Given the description of an element on the screen output the (x, y) to click on. 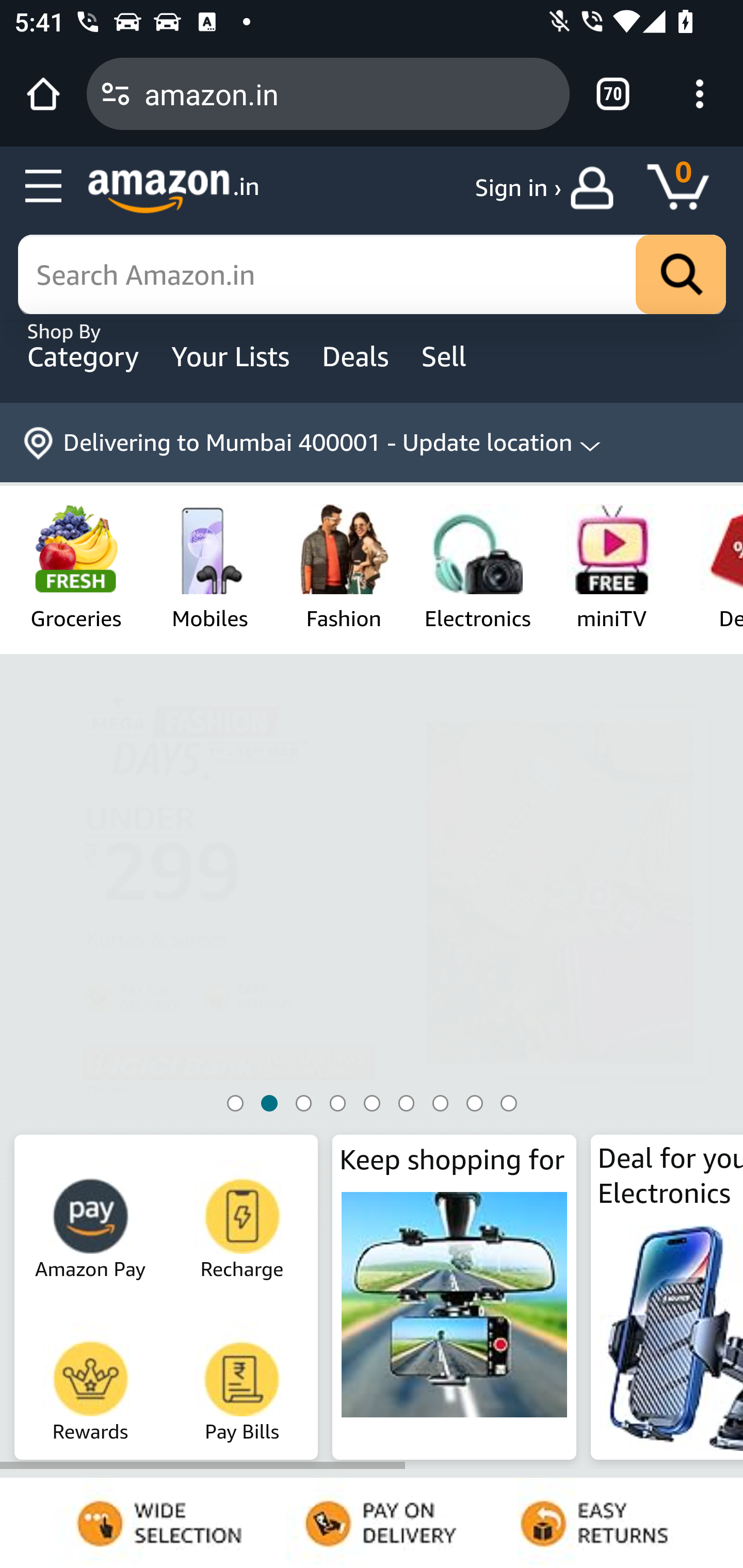
Open the home page (43, 93)
Connection is secure (115, 93)
Switch or close tabs (612, 93)
Customize and control Google Chrome (699, 93)
amazon.in (349, 92)
Open Menu (44, 187)
Sign in › (518, 188)
your account (596, 188)
Cart 0 (687, 188)
Amazon.in .in (173, 191)
Go (681, 275)
Category Shop By Category Shop By (84, 355)
Your Lists (232, 355)
Deals (358, 355)
Sell (457, 355)
Groceries Groceries Groceries Groceries (75, 566)
Mobiles Mobiles Mobiles Mobiles (209, 566)
Fashion Fashion Fashion Fashion (343, 566)
Electronics Electronics Electronics Electronics (477, 566)
miniTV miniTV miniTV miniTV (611, 566)
Amazon Pay 01J2w2og5ZL._SS70_ Amazon Pay (90, 1212)
Recharge 01JrN5TPJTL._SS70_ Recharge (242, 1212)
Rewards 01K+ne++tuL._SS70_ Rewards (90, 1375)
Pay Bills 01UapGauDHL._SS70_ Pay Bills (242, 1375)
Pay on delivery (371, 1522)
